Given the description of an element on the screen output the (x, y) to click on. 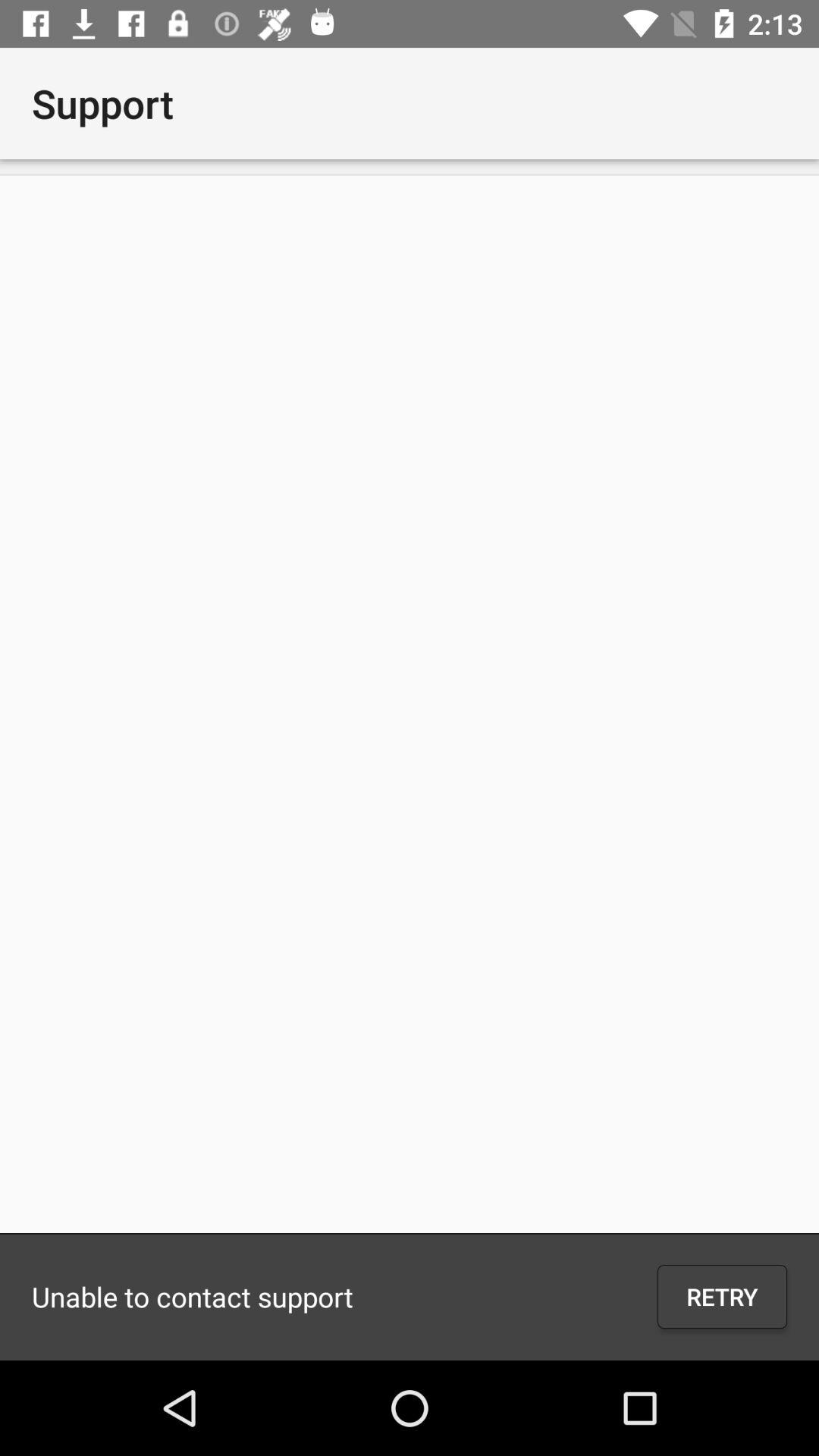
turn off retry icon (722, 1296)
